Given the description of an element on the screen output the (x, y) to click on. 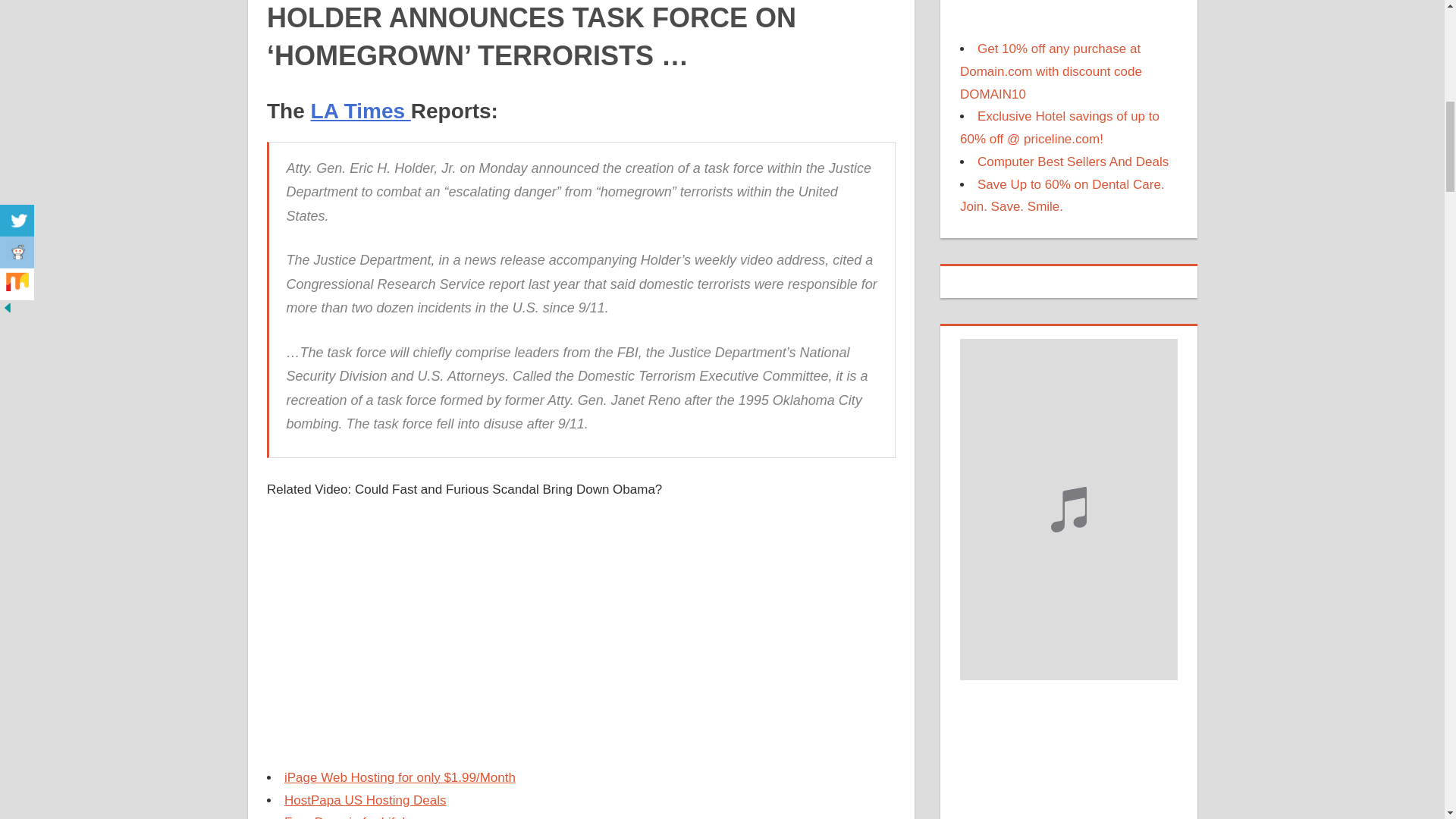
Free Domain for Life! (344, 816)
LA Times  (360, 110)
HostPapa US Hosting Deals (364, 800)
